Given the description of an element on the screen output the (x, y) to click on. 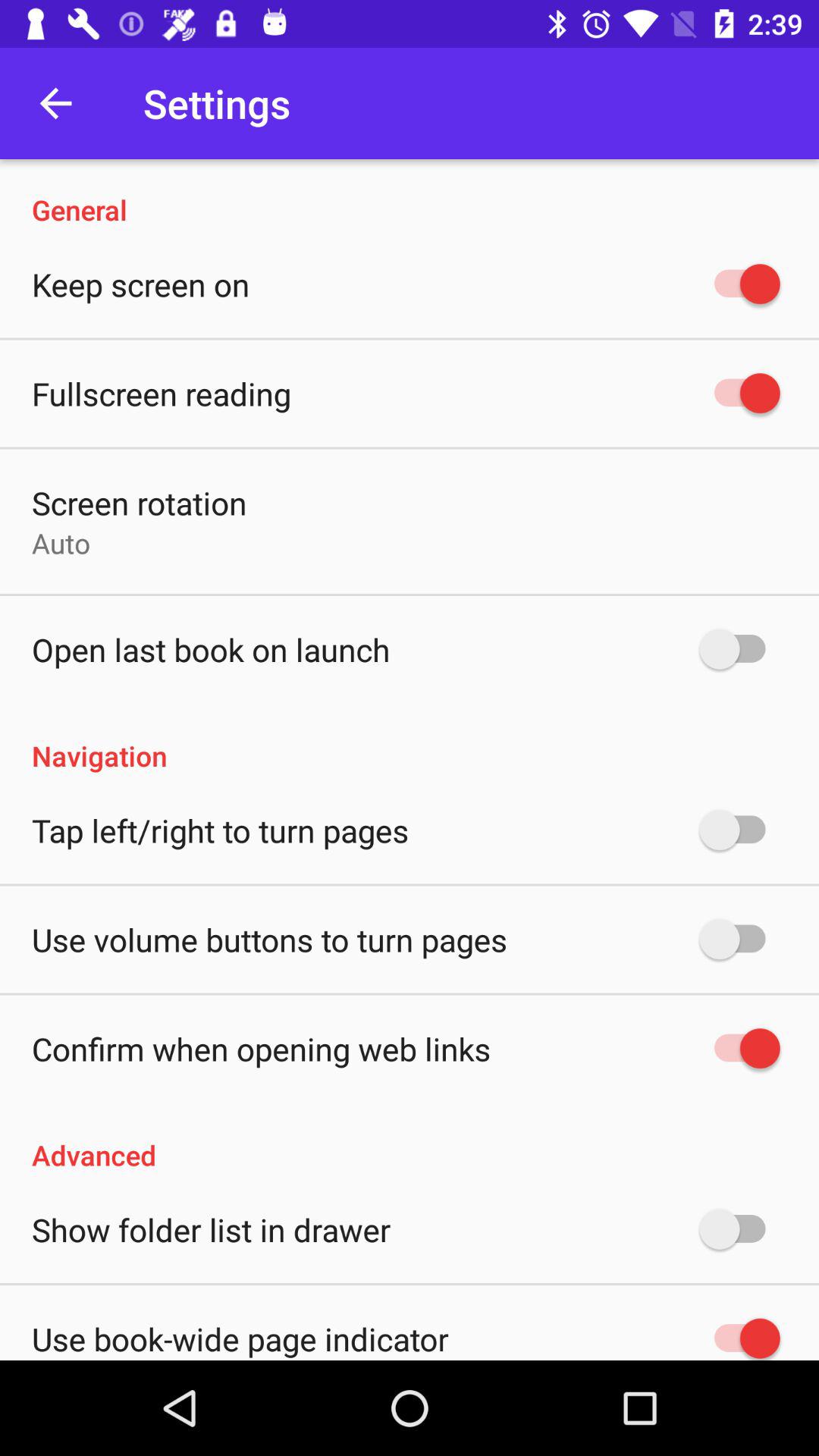
turn on the keep screen on (140, 283)
